Given the description of an element on the screen output the (x, y) to click on. 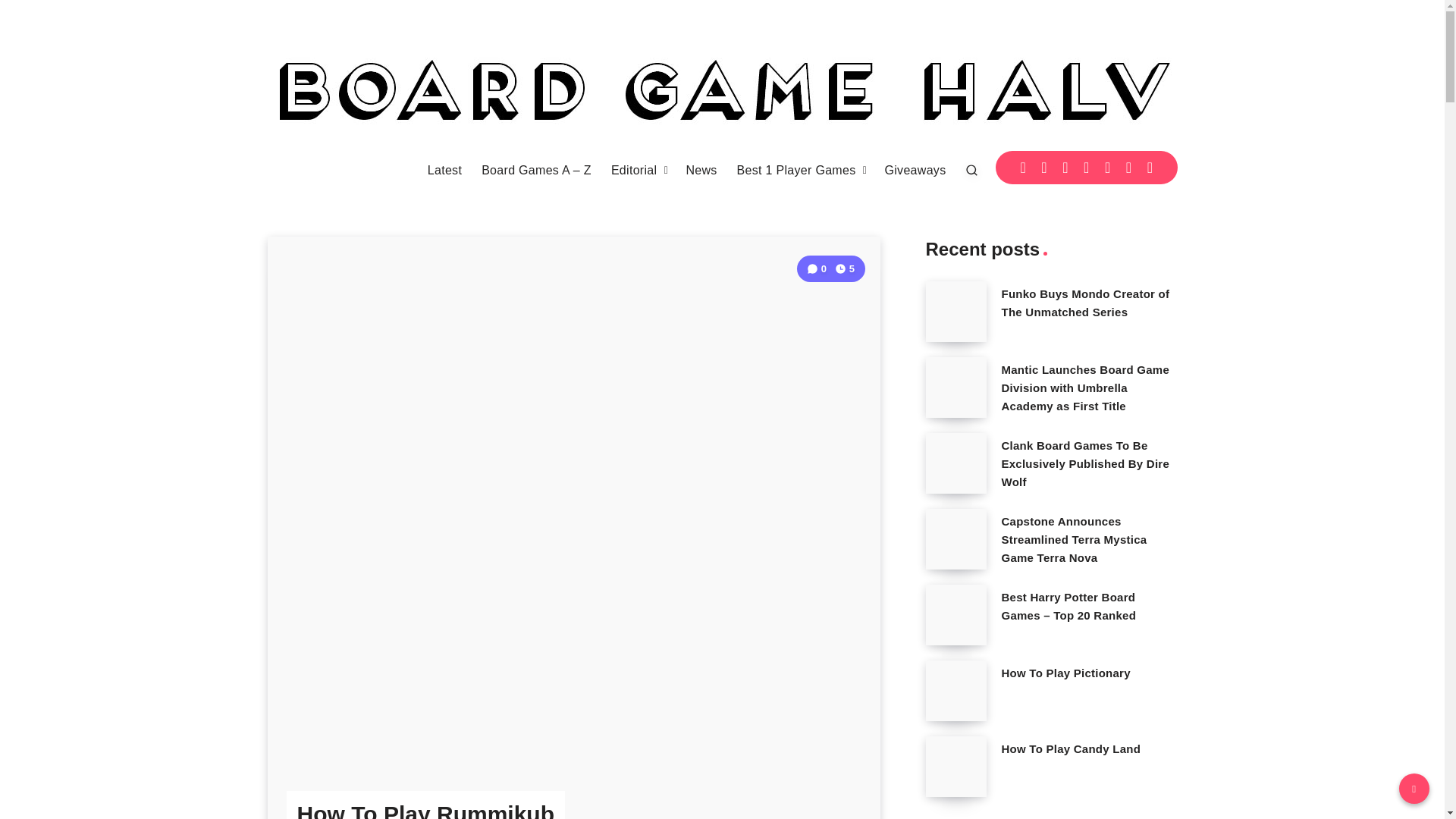
Best 1 Player Games (796, 170)
0 Comments (817, 268)
Editorial (634, 170)
5 Min Read (845, 268)
Latest (444, 170)
News (700, 170)
